Given the description of an element on the screen output the (x, y) to click on. 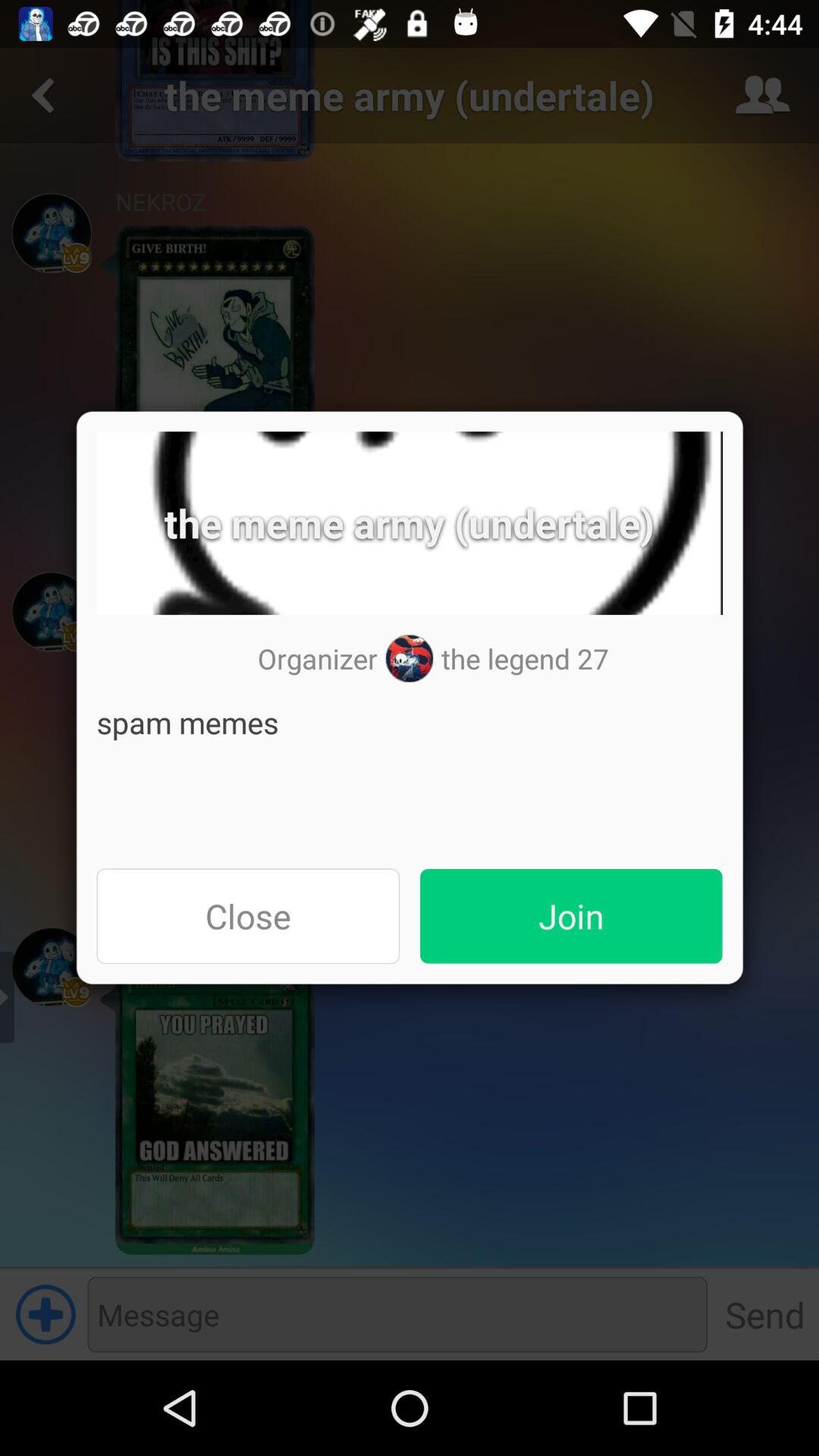
choose close icon (247, 916)
